Given the description of an element on the screen output the (x, y) to click on. 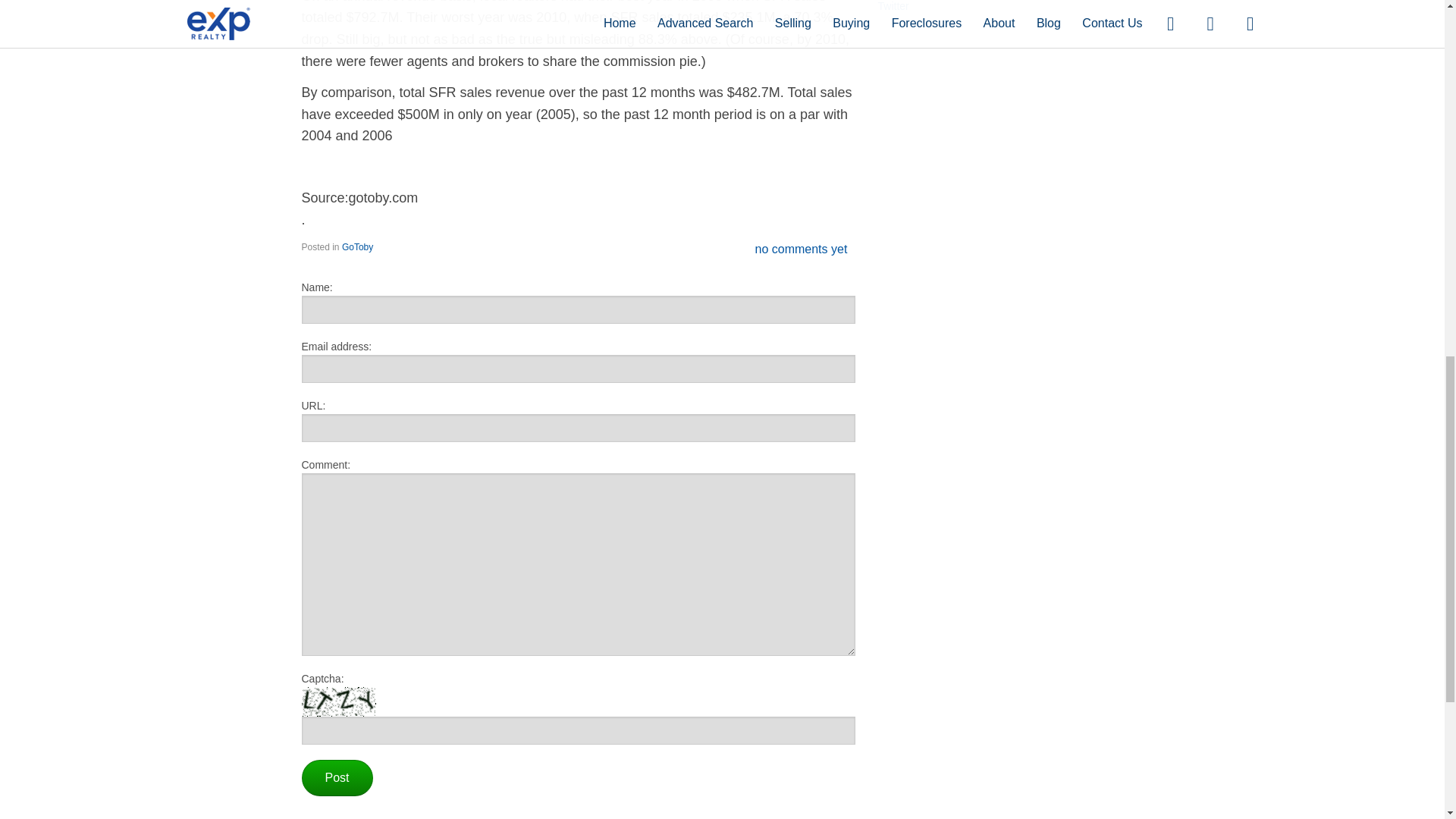
Post (336, 778)
GoToby (357, 246)
Twitter (892, 6)
Post (336, 778)
no comments yet (801, 248)
